Given the description of an element on the screen output the (x, y) to click on. 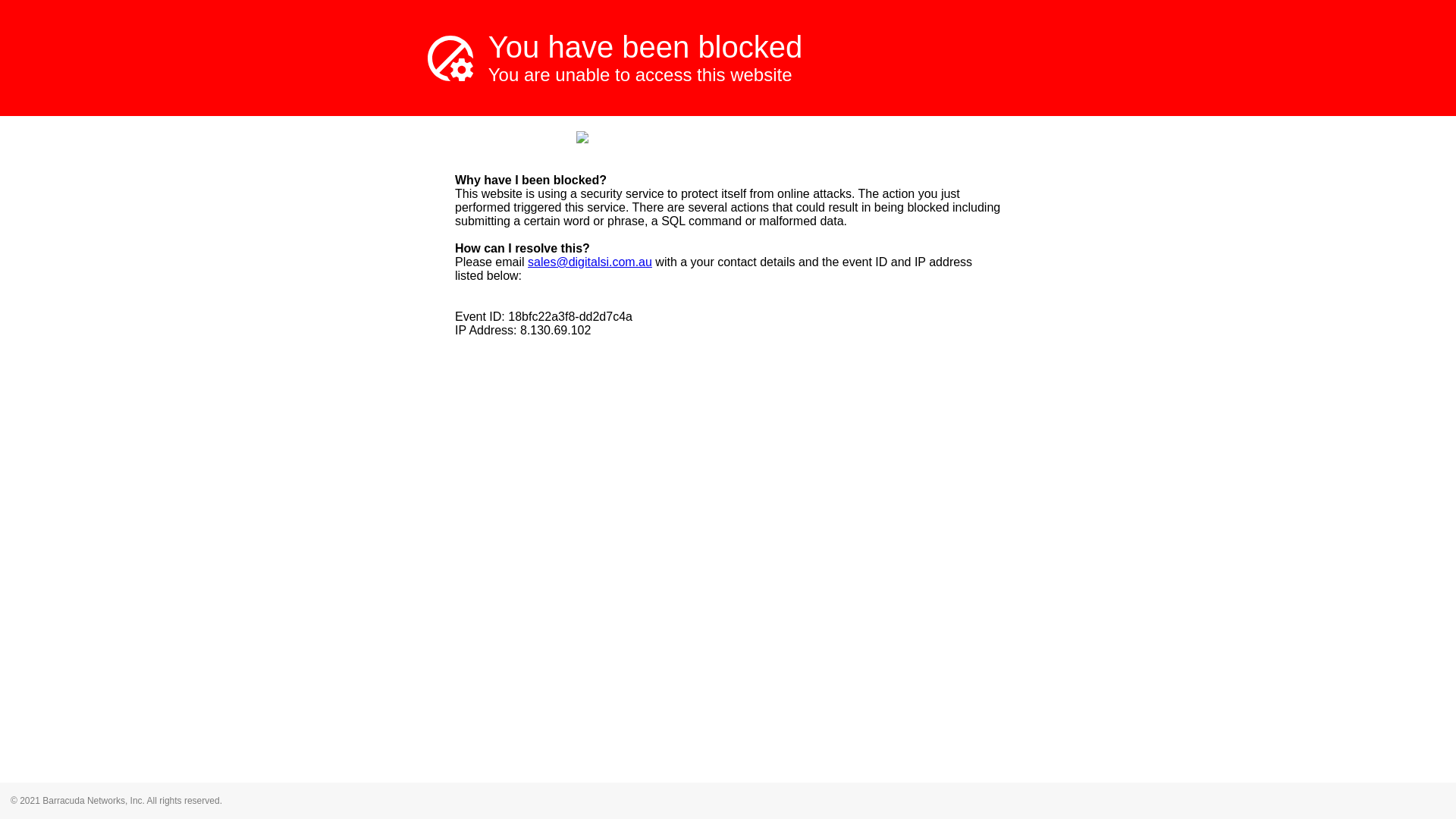
sales@digitalsi.com.au Element type: text (589, 261)
